Given the description of an element on the screen output the (x, y) to click on. 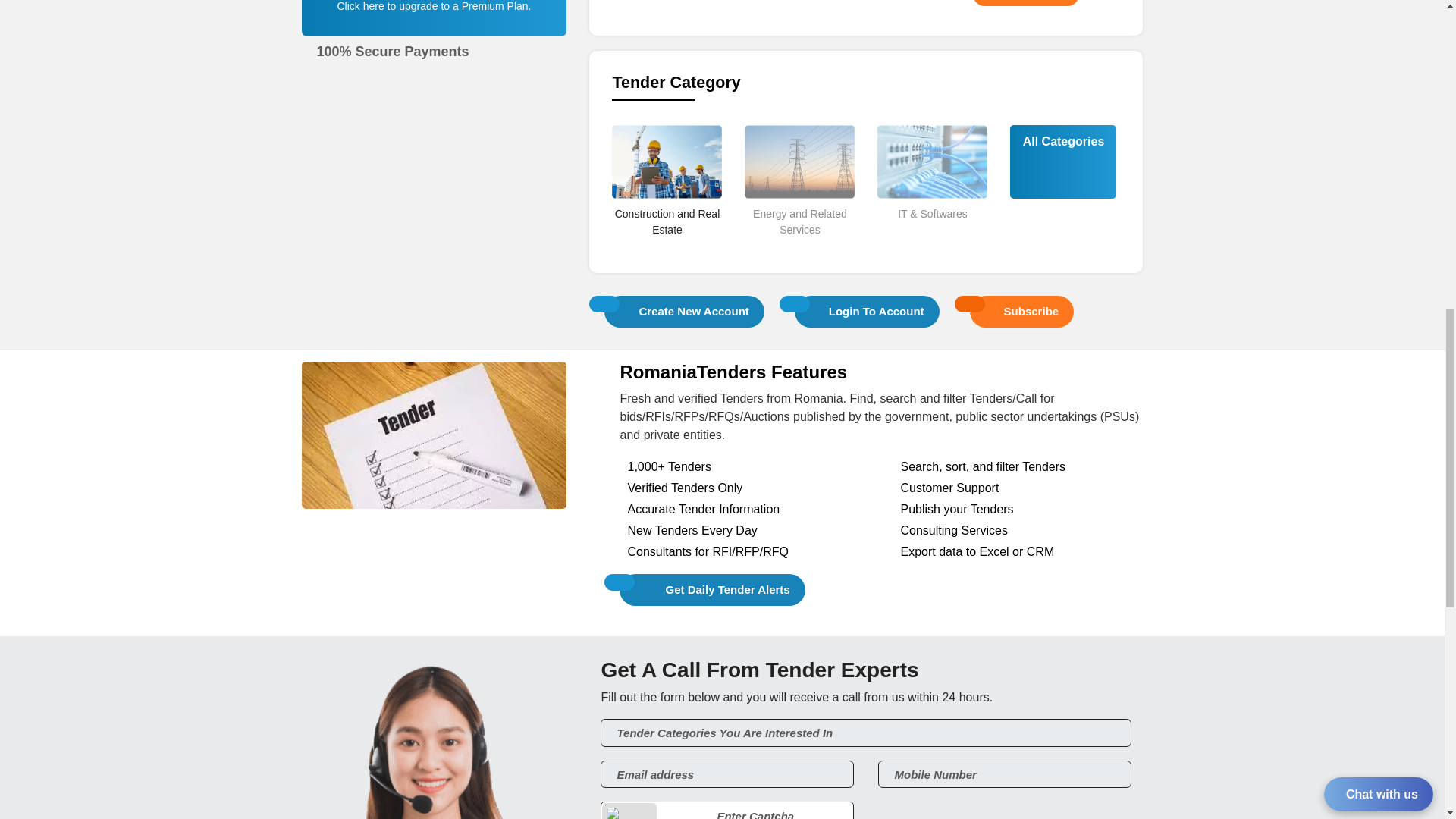
Construction and Real Estate (666, 247)
CLICK HERE TO LOGIN (1025, 2)
Energy and Related Services (799, 247)
Get Daily Tender Alerts (712, 590)
Click here to upgrade to a Premium Plan. (433, 6)
Subscription Plans (434, 26)
Login To Account (866, 310)
Subscribe (1022, 310)
All Categories (1062, 141)
Create New Account (684, 310)
